Given the description of an element on the screen output the (x, y) to click on. 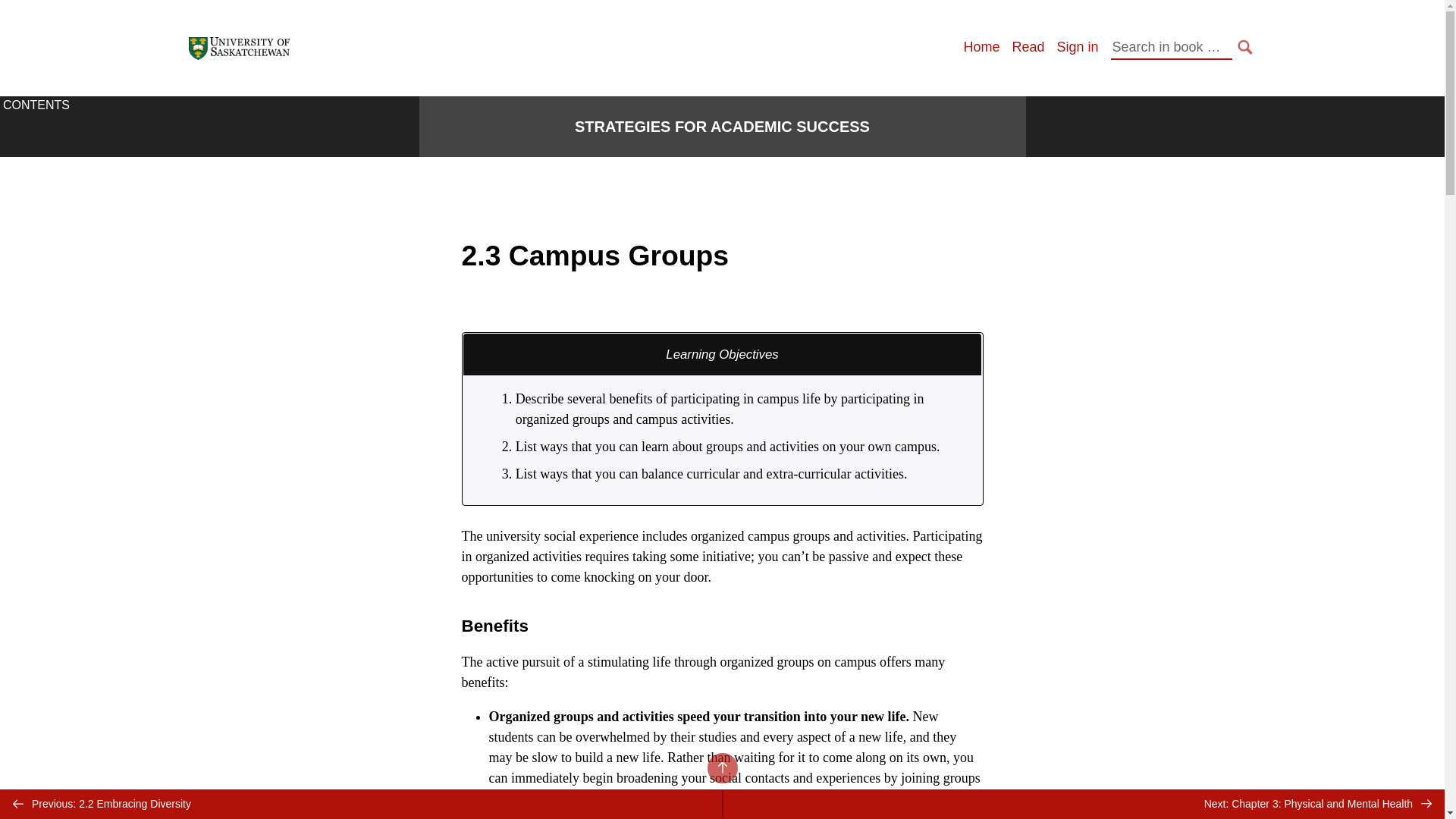
Sign in (1077, 46)
Read (1027, 46)
Home (980, 46)
Previous: 2.2 Embracing Diversity (361, 804)
Previous: 2.2 Embracing Diversity (361, 804)
STRATEGIES FOR ACADEMIC SUCCESS (722, 126)
